Given the description of an element on the screen output the (x, y) to click on. 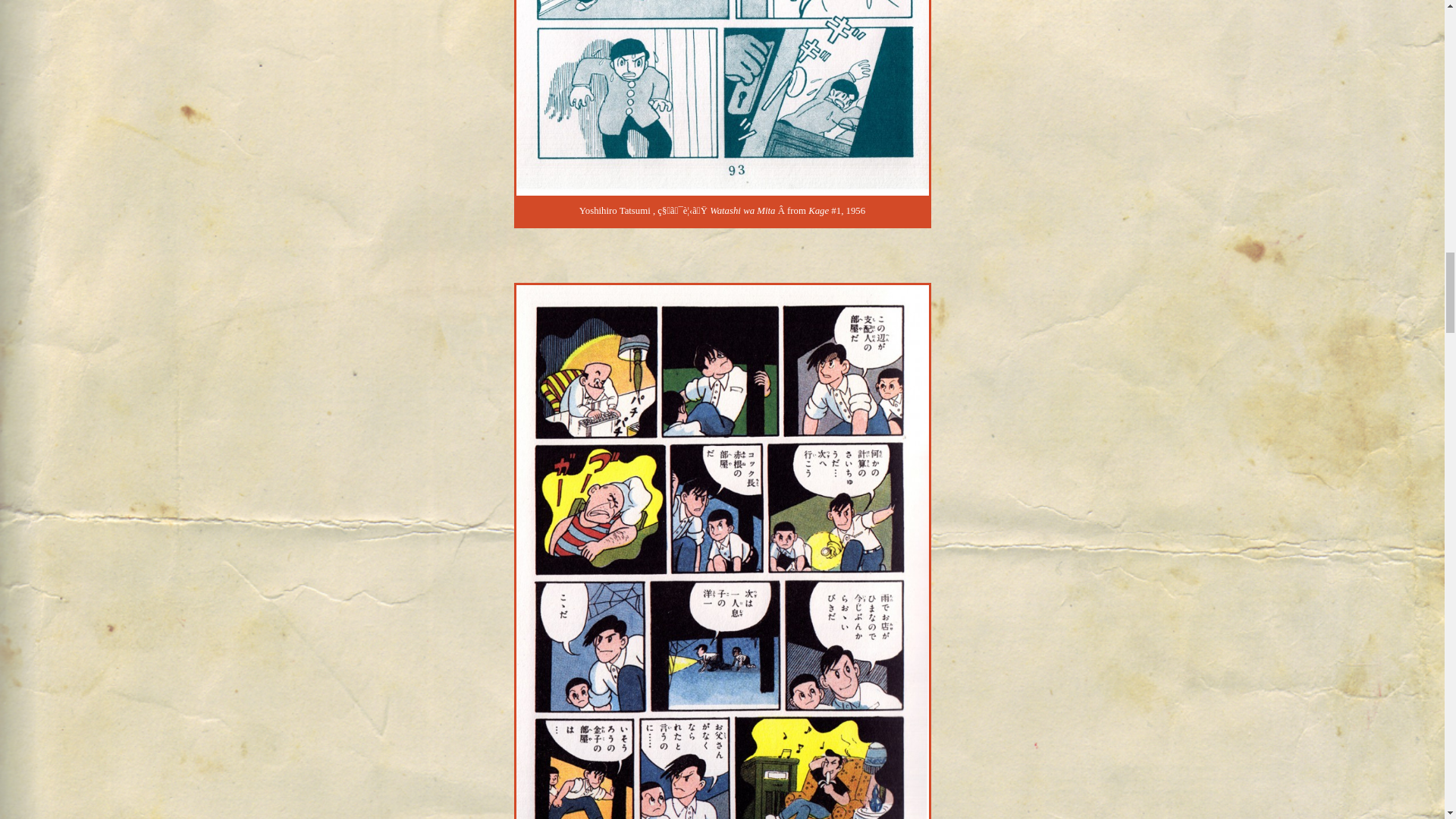
Tatsumi - Kage 1b (721, 97)
